Given the description of an element on the screen output the (x, y) to click on. 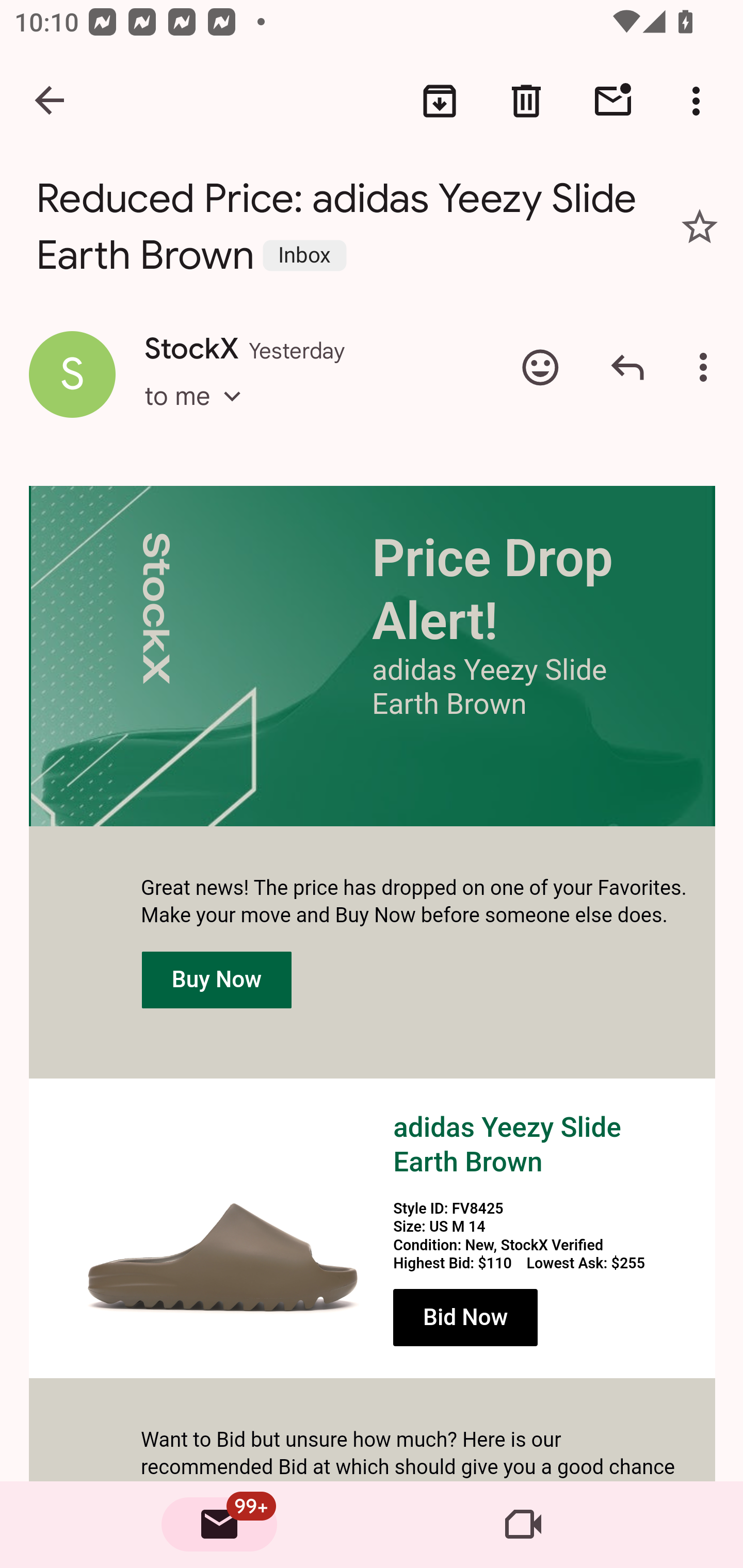
Navigate up (50, 101)
Archive (439, 101)
Delete (525, 101)
Mark unread (612, 101)
More options (699, 101)
Add star (699, 226)
Add emoji reaction (540, 367)
Reply (626, 367)
More options (706, 367)
Show contact information for StockX (71, 373)
to me (199, 414)
Meet (523, 1524)
